Given the description of an element on the screen output the (x, y) to click on. 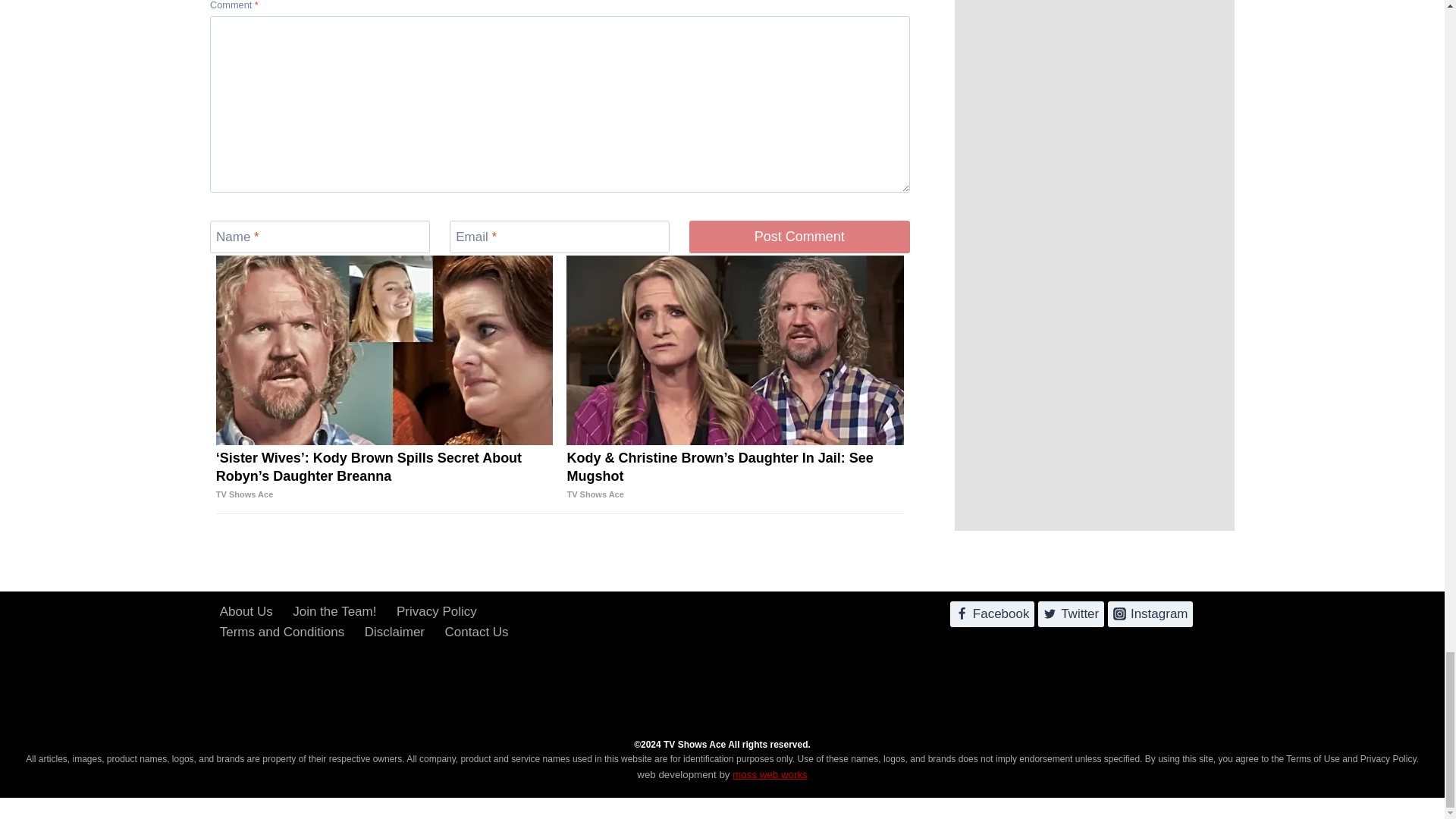
Post Comment (799, 236)
